Given the description of an element on the screen output the (x, y) to click on. 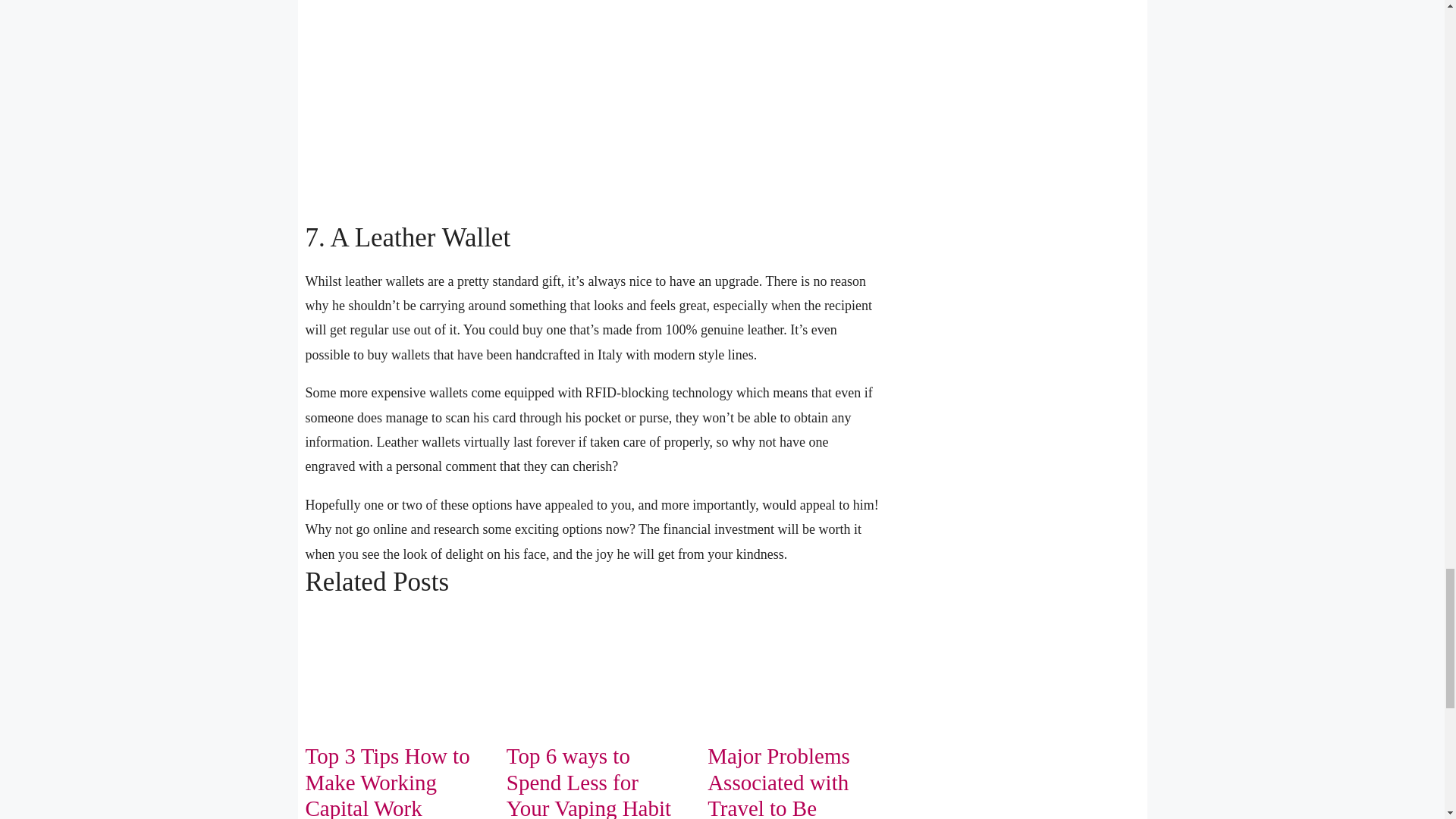
Major Problems Associated with Travel to Be Watchful For (778, 781)
Top 6 ways to Spend Less for Your Vaping Habit (588, 781)
